Given the description of an element on the screen output the (x, y) to click on. 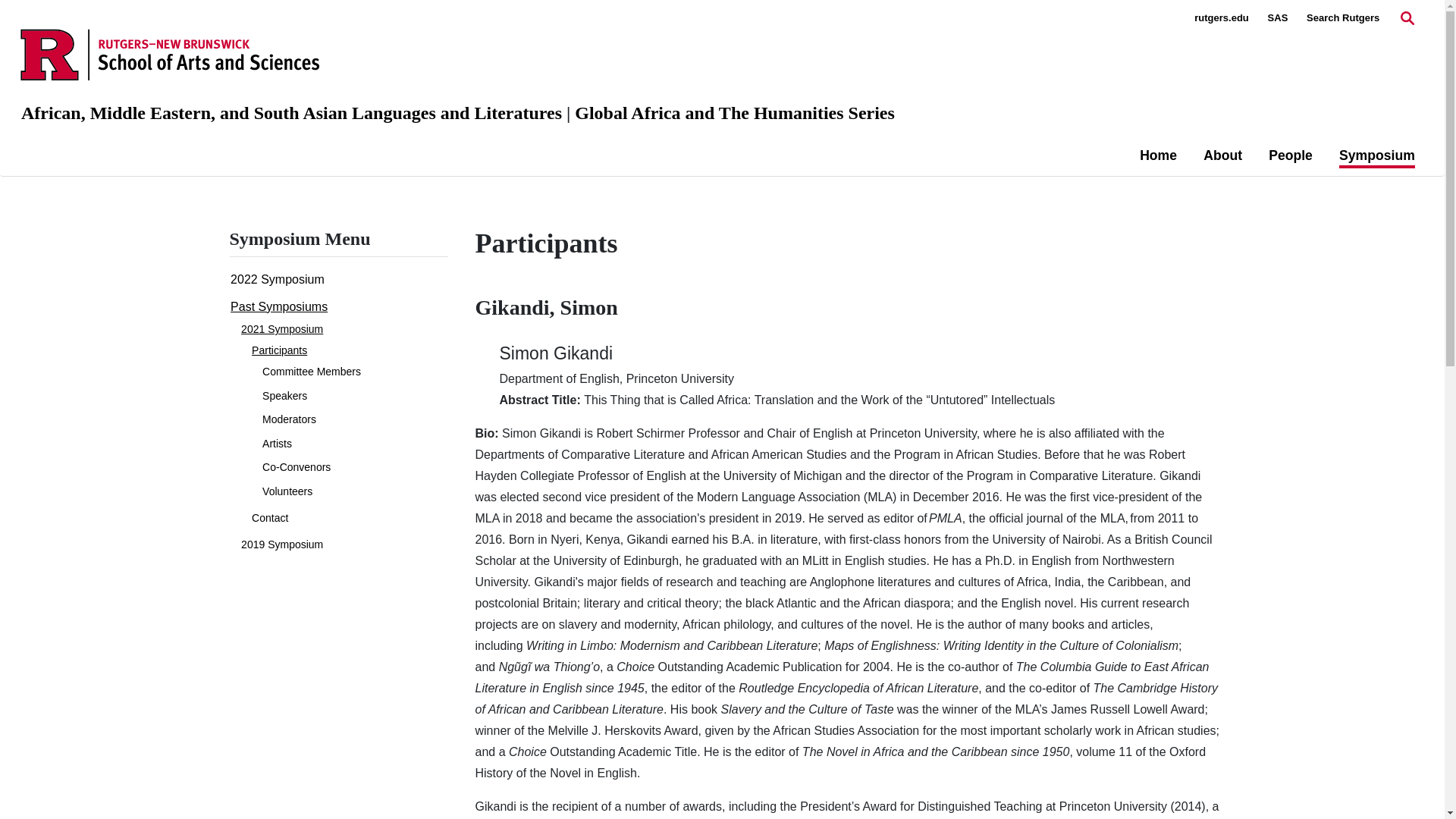
Participants (279, 349)
Past Symposiums (278, 306)
2021 Symposium (282, 328)
2022 Symposium (277, 278)
rutgers.edu (1221, 17)
Speakers (284, 395)
Co-Convenors (296, 467)
About (1222, 155)
Global Africa and The Humanities Series (735, 112)
Search Rutgers (1342, 17)
Committee Members (311, 371)
Artists (277, 443)
Symposium (1377, 156)
Moderators (288, 419)
Volunteers (287, 491)
